Given the description of an element on the screen output the (x, y) to click on. 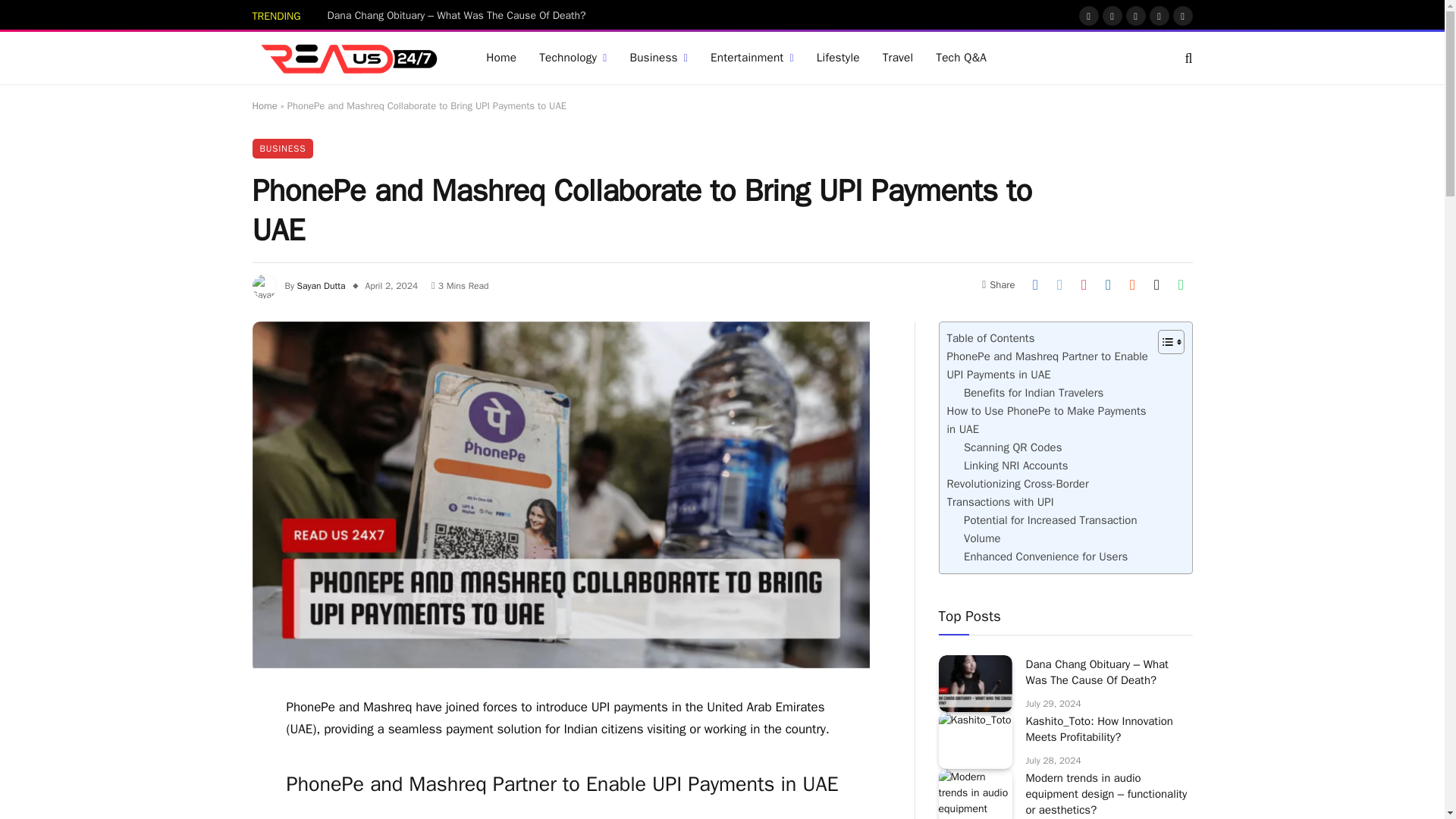
Home (500, 57)
Facebook (1087, 15)
Pinterest (1159, 15)
Business (657, 57)
Instagram (1134, 15)
Technology (572, 57)
LinkedIn (1182, 15)
